Given the description of an element on the screen output the (x, y) to click on. 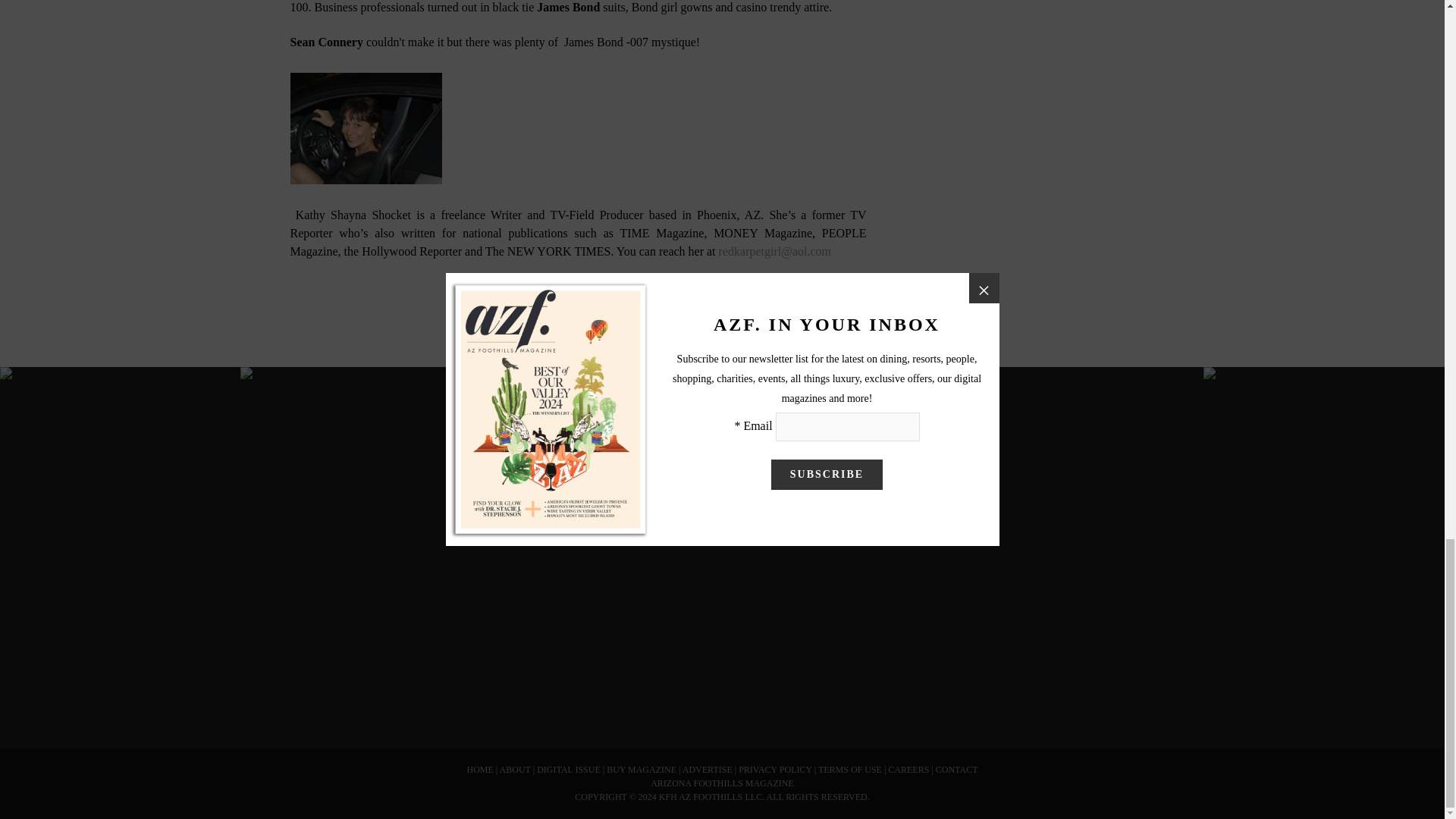
3rd party ad content (1024, 88)
3rd party ad content (425, 668)
3rd party ad content (1017, 668)
3rd party ad content (721, 668)
